Given the description of an element on the screen output the (x, y) to click on. 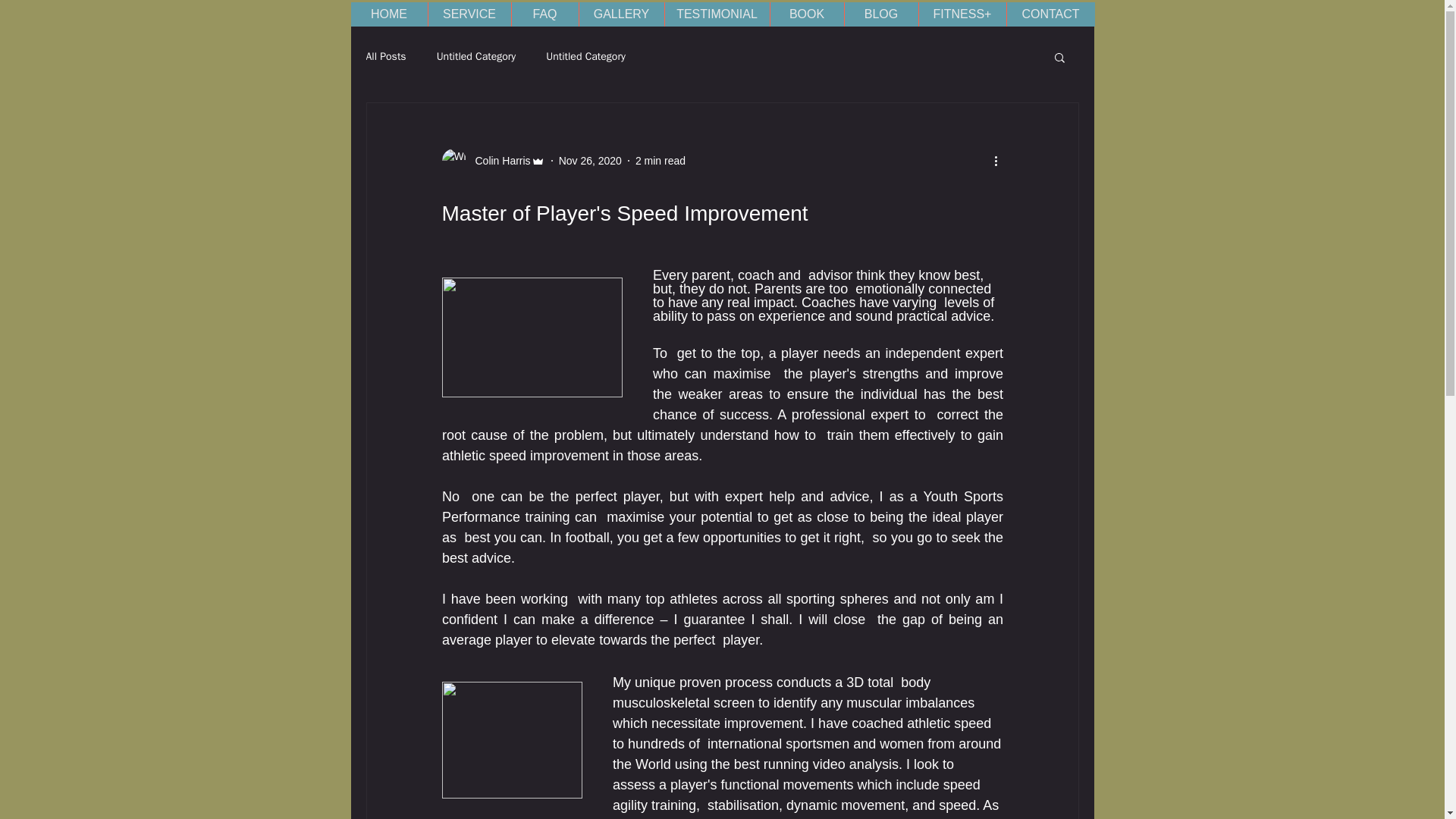
CONTACT (1050, 14)
TESTIMONIAL (716, 14)
Colin Harris (492, 160)
BLOG (880, 14)
BOOK (805, 14)
SERVICE (469, 14)
Nov 26, 2020 (590, 160)
2 min read (659, 160)
FAQ (544, 14)
Untitled Category (476, 56)
